Given the description of an element on the screen output the (x, y) to click on. 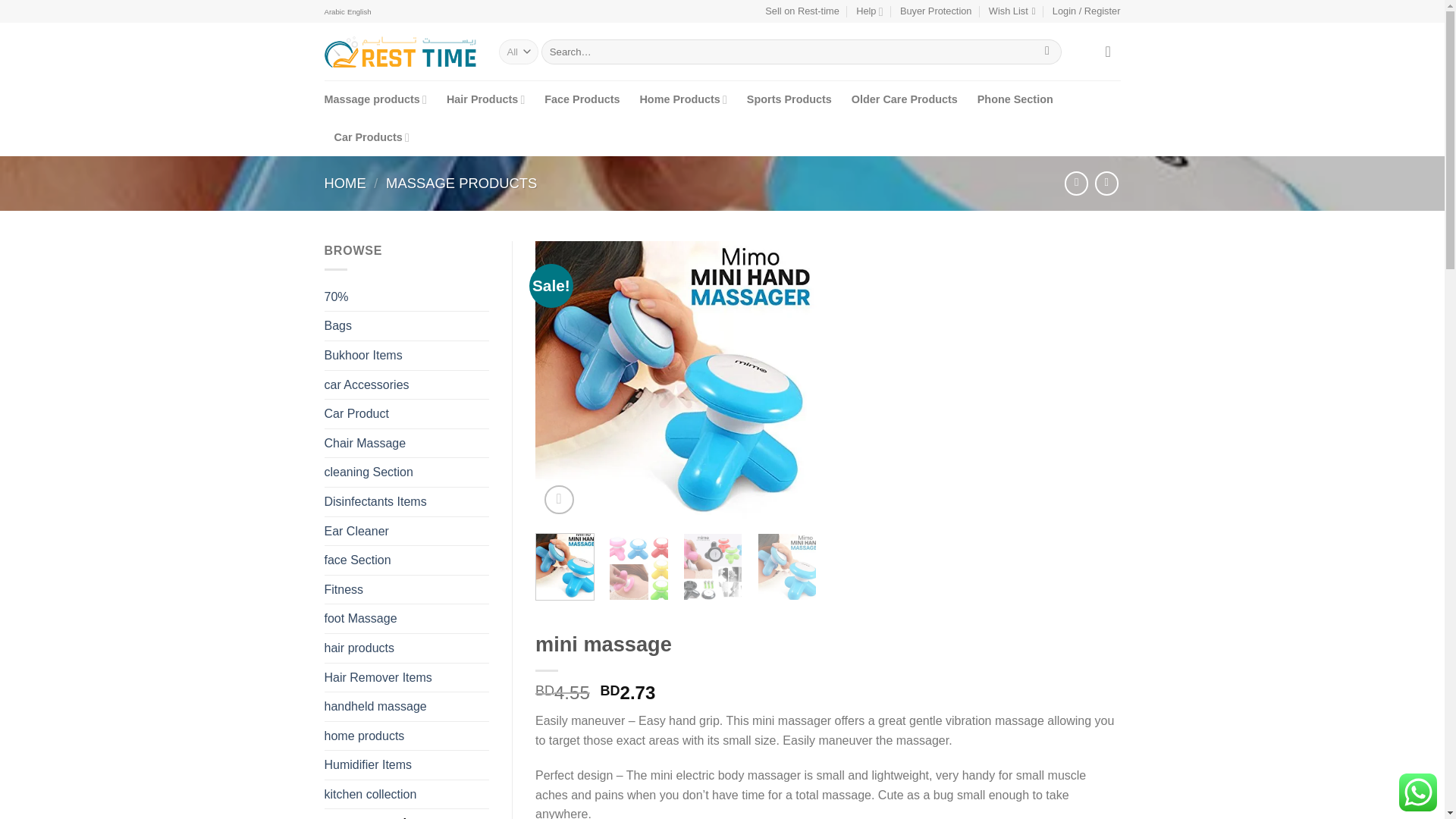
Wish List (1011, 11)
Arabic (334, 11)
Face Products (582, 98)
Search (1047, 52)
Car Products (371, 136)
Sports Products (788, 98)
Phone Section (1014, 98)
Home Products (682, 98)
Hair Products (485, 98)
Help (869, 11)
English (359, 11)
Older Care Products (904, 98)
Buyer Protection (935, 11)
English (359, 11)
Rest Time Electronics - Bahrain Shopping Center (400, 51)
